Given the description of an element on the screen output the (x, y) to click on. 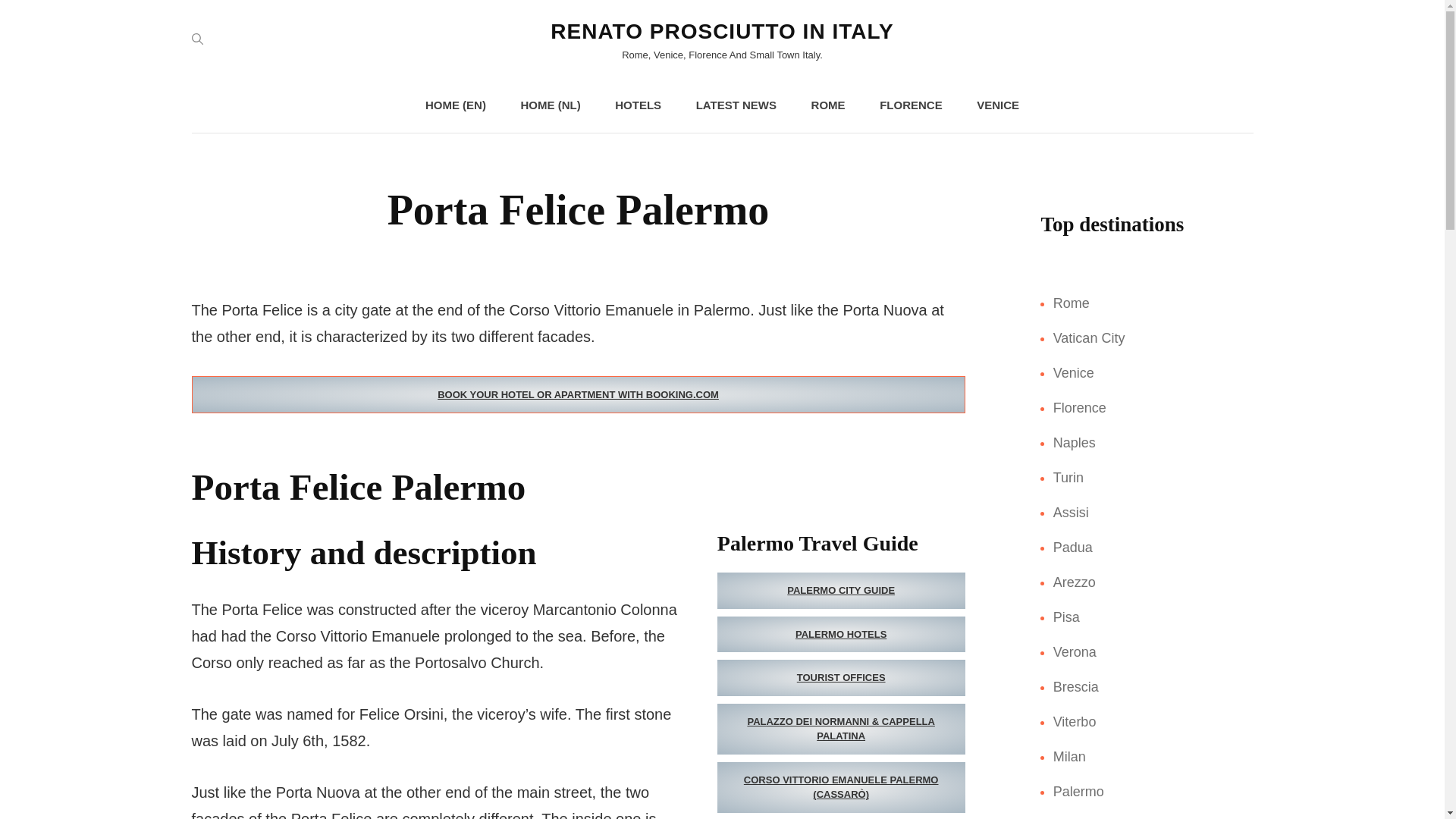
PALERMO HOTELS (841, 634)
RENATO PROSCIUTTO IN ITALY (721, 31)
BOOK YOUR HOTEL OR APARTMENT WITH BOOKING.COM (576, 394)
HOTELS (638, 104)
VENICE (996, 104)
LATEST NEWS (736, 104)
FLORENCE (911, 104)
TOURIST OFFICES (841, 678)
PALERMO CITY GUIDE (841, 590)
ROME (828, 104)
